Given the description of an element on the screen output the (x, y) to click on. 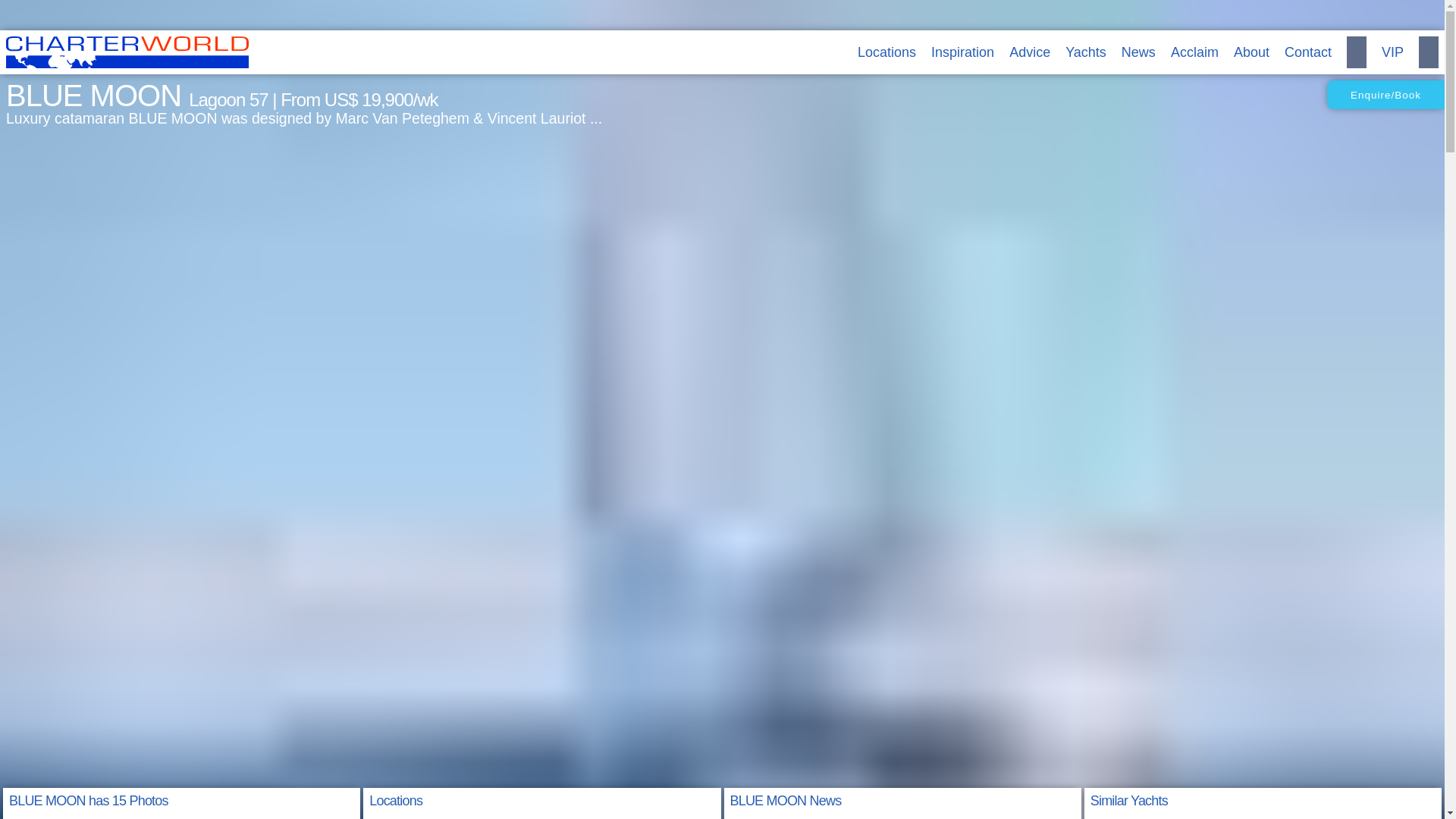
Yachts (1085, 51)
Locations (886, 51)
Inspiration (962, 51)
Advice (1029, 51)
Contact (1308, 51)
About (1251, 51)
BLUE MOON News (785, 800)
News (1138, 51)
Acclaim (1194, 51)
